Given the description of an element on the screen output the (x, y) to click on. 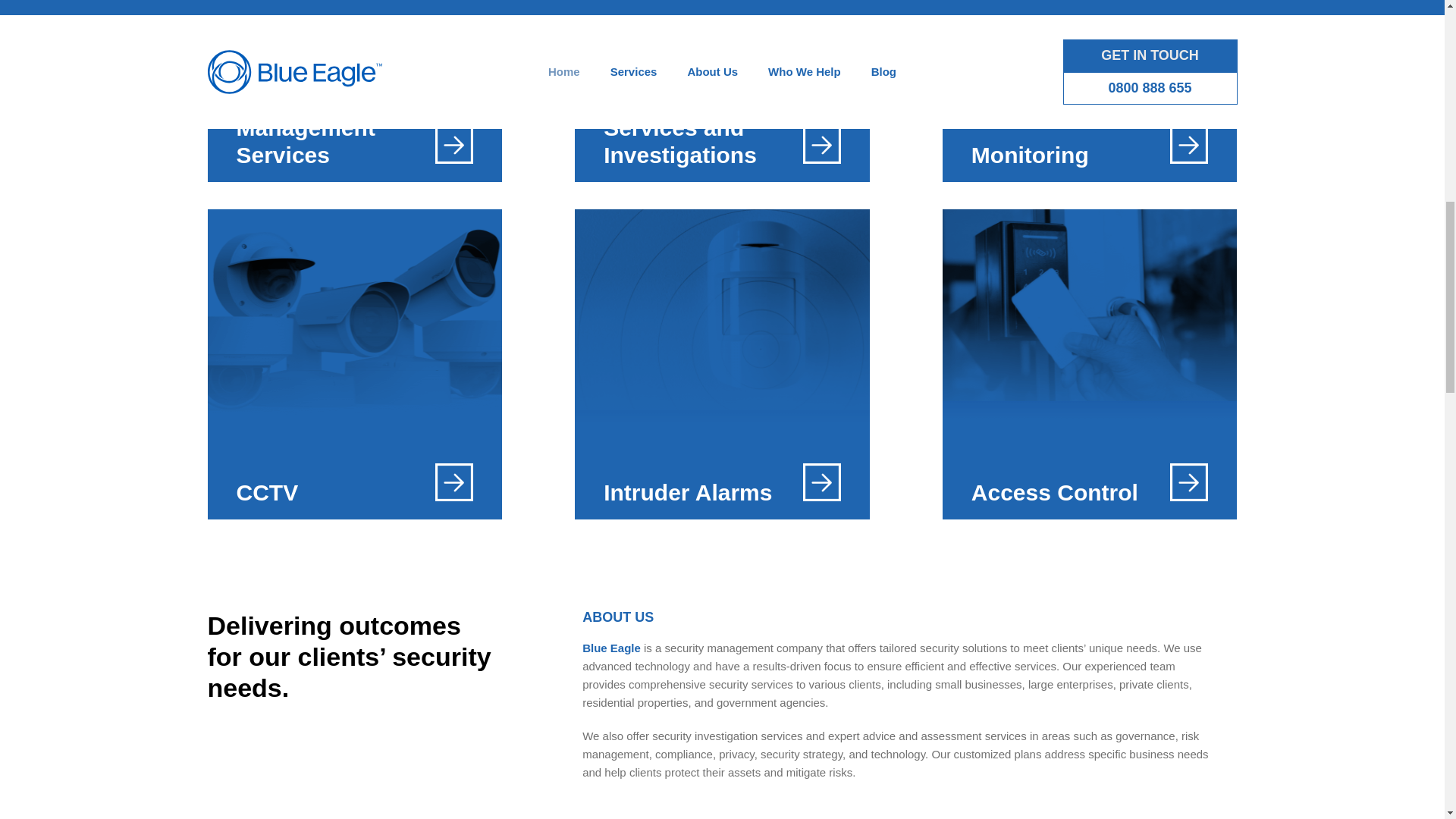
Access Control (1089, 364)
Advisory and Management Services (355, 90)
Intruder Alarms (722, 364)
Protective Services and Investigations (722, 90)
Monitoring (1089, 90)
CCTV (355, 364)
